Given the description of an element on the screen output the (x, y) to click on. 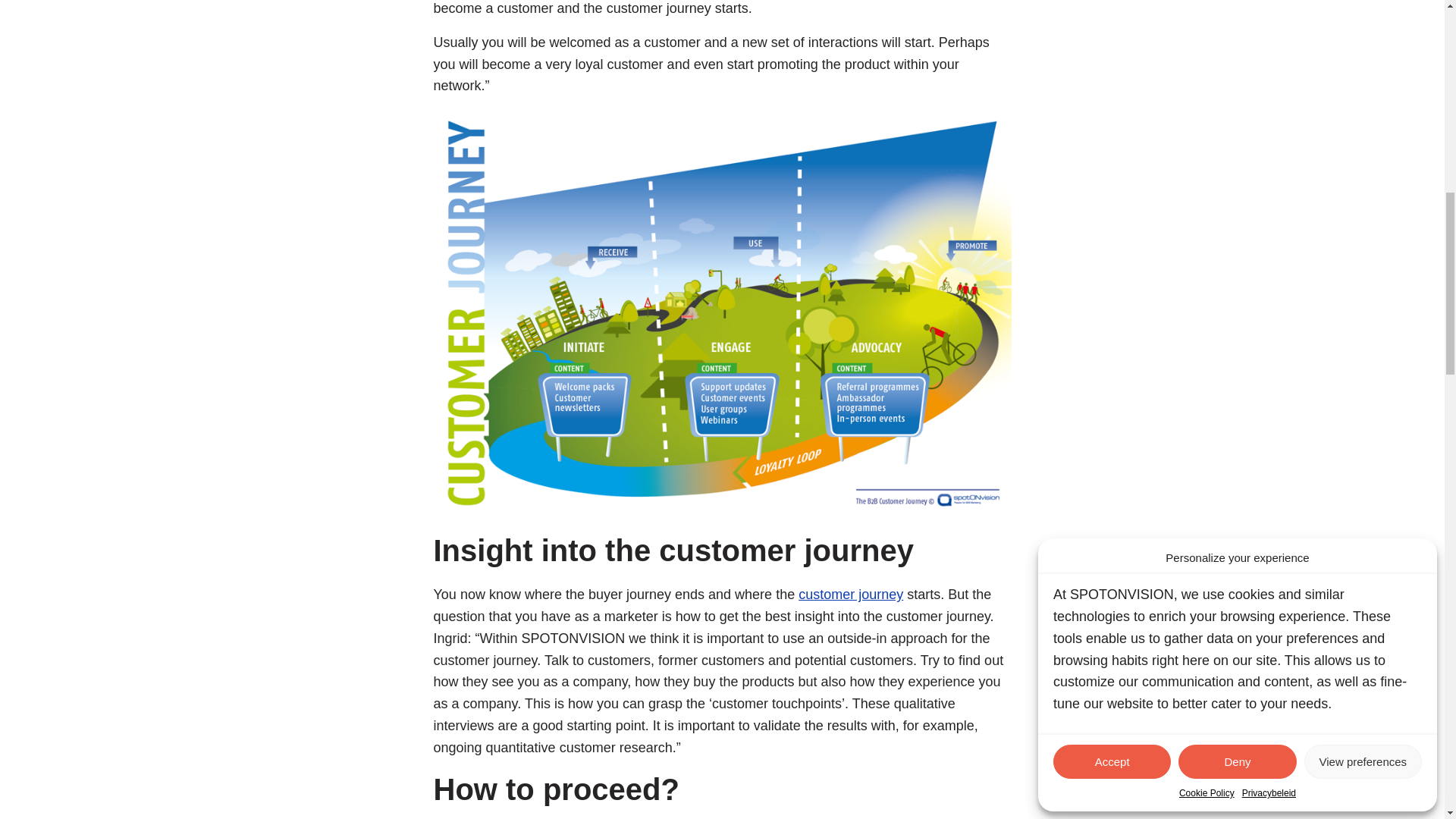
customer journey (849, 594)
